Given the description of an element on the screen output the (x, y) to click on. 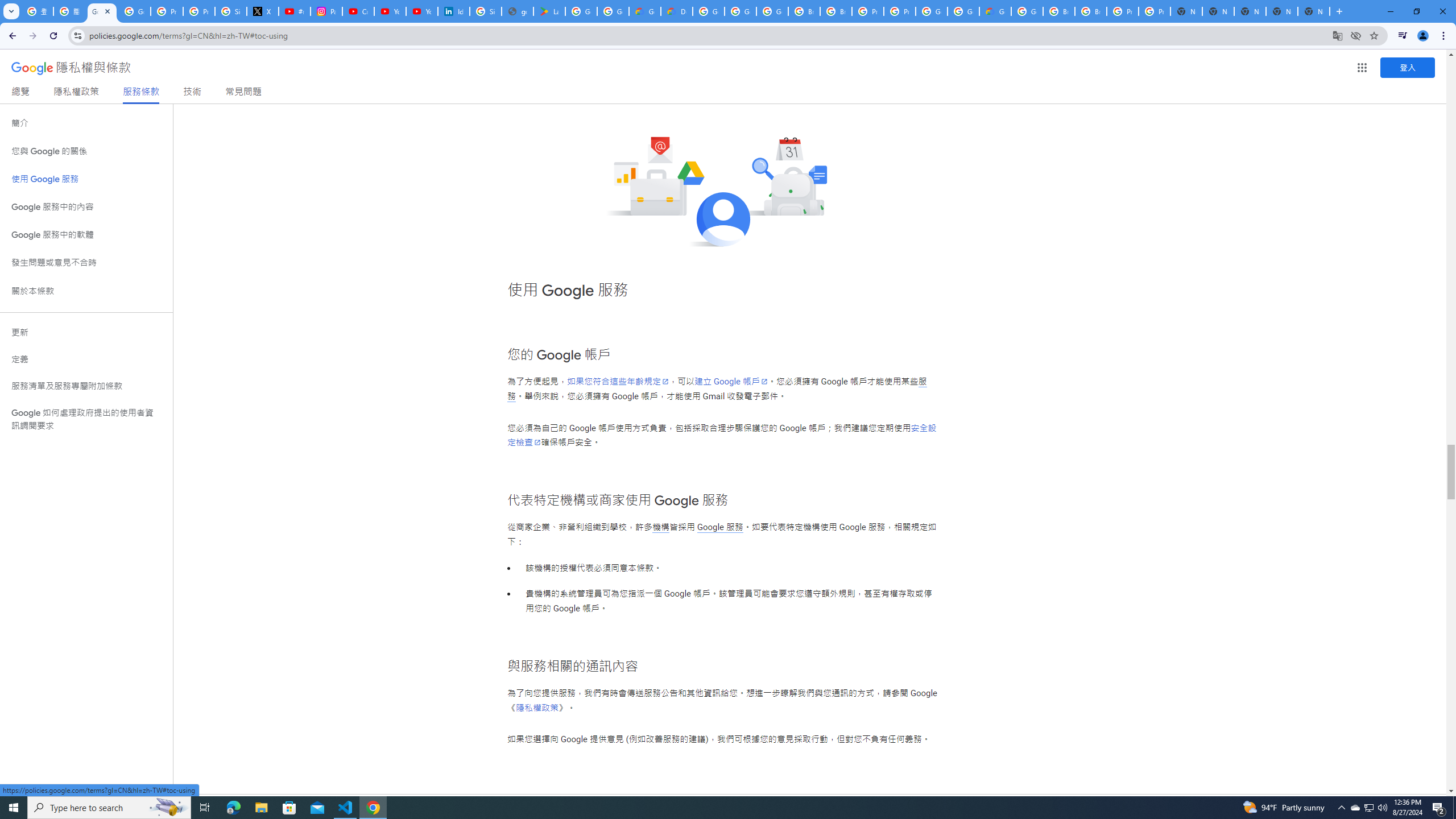
YouTube Culture & Trends - YouTube Top 10, 2021 (421, 11)
New Tab (1313, 11)
Browse Chrome as a guest - Computer - Google Chrome Help (804, 11)
Google Cloud Platform (963, 11)
Google Cloud Platform (931, 11)
